Given the description of an element on the screen output the (x, y) to click on. 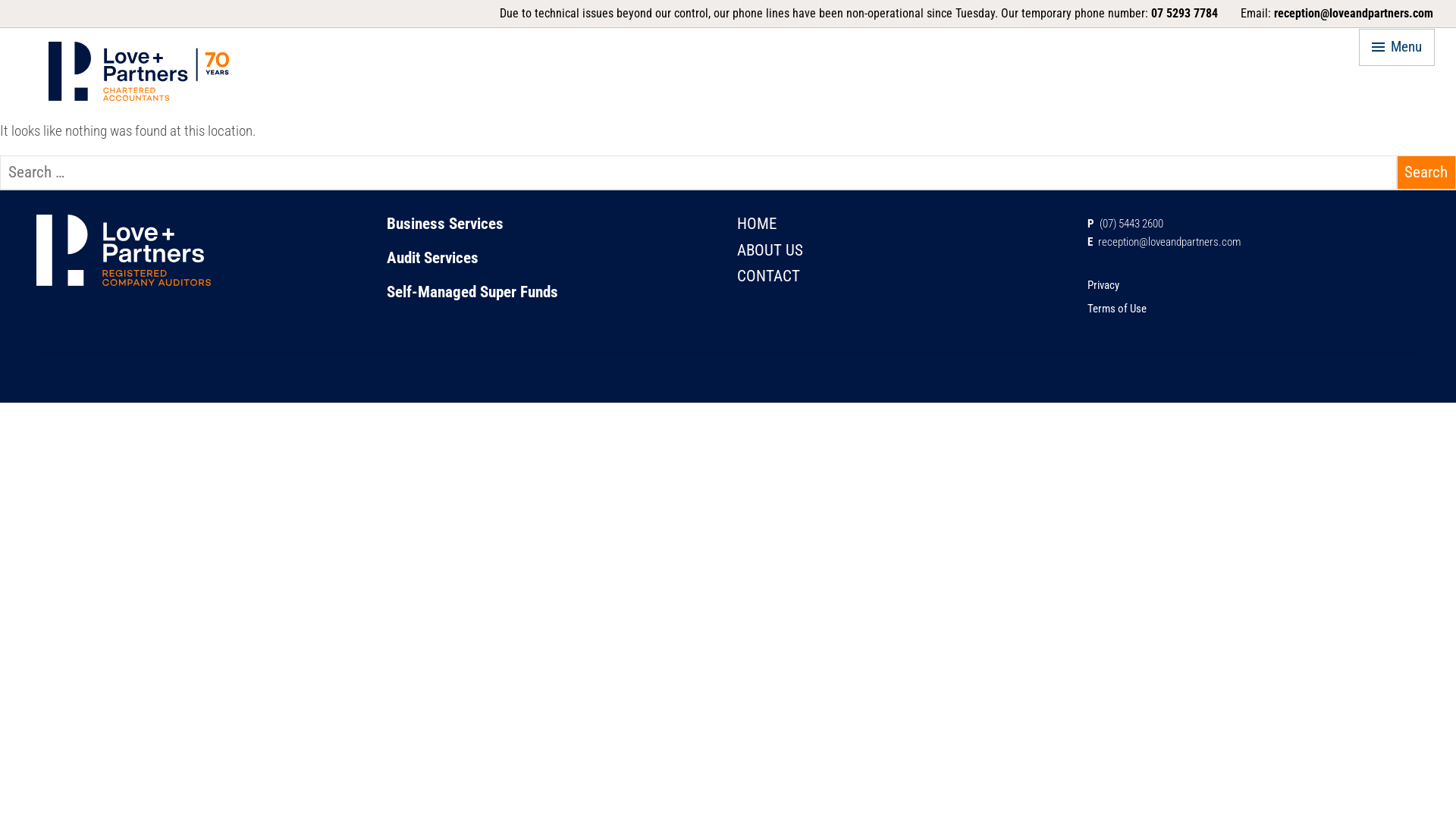
ABOUT US Element type: text (770, 250)
Terms of Use Element type: text (1116, 308)
Go Element type: text (848, 368)
CONTACT Element type: text (768, 275)
reception@loveandpartners.com Element type: text (1169, 241)
Business Services Element type: text (444, 223)
Self-Managed Super Funds Element type: text (472, 291)
reception@loveandpartners.com Element type: text (1353, 13)
Privacy Element type: text (1103, 284)
HOME Element type: text (756, 223)
Audit Services Element type: text (432, 257)
